Given the description of an element on the screen output the (x, y) to click on. 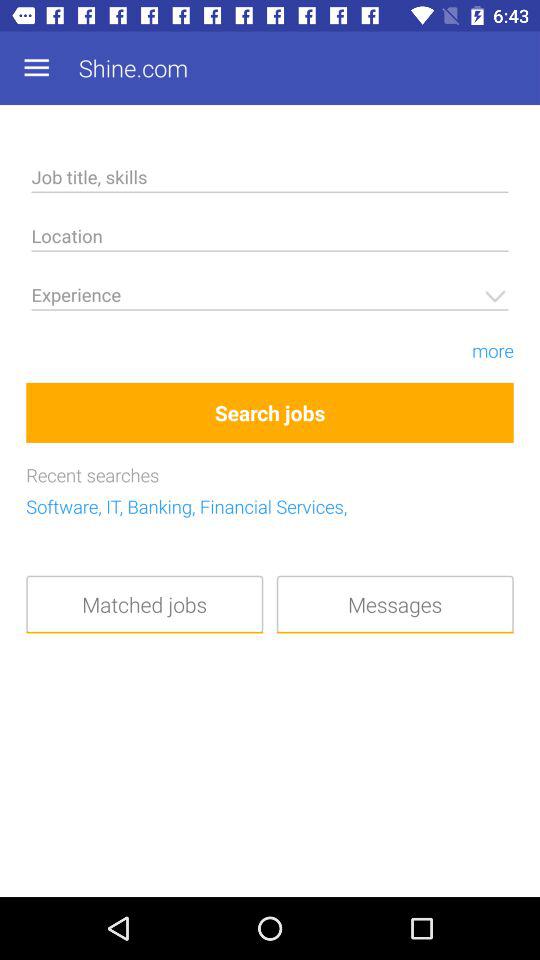
enter job title or skills (269, 180)
